Given the description of an element on the screen output the (x, y) to click on. 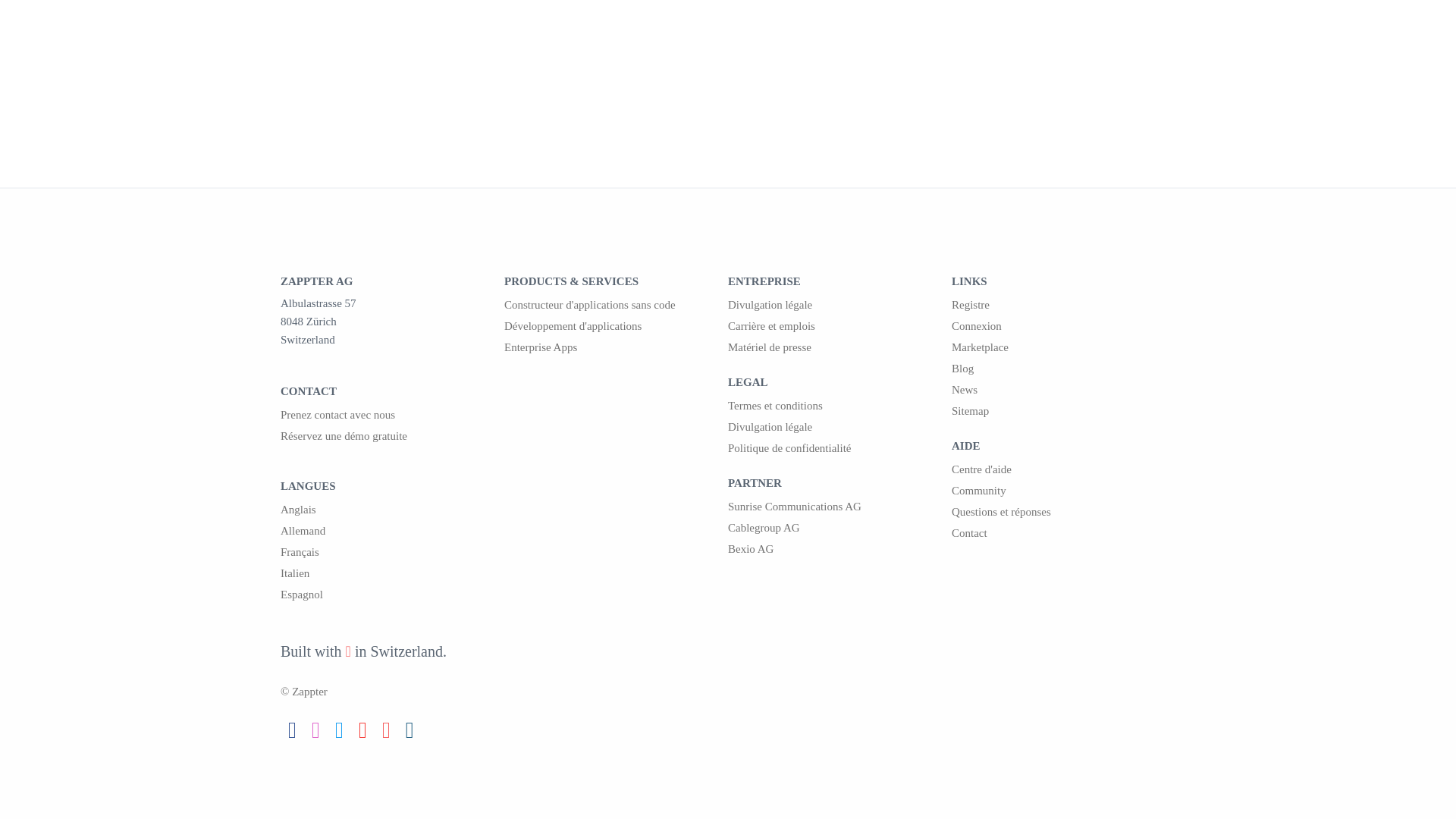
Marketplace (1063, 346)
News (1063, 389)
Blog (1063, 368)
Zappter App Builder (615, 304)
